Given the description of an element on the screen output the (x, y) to click on. 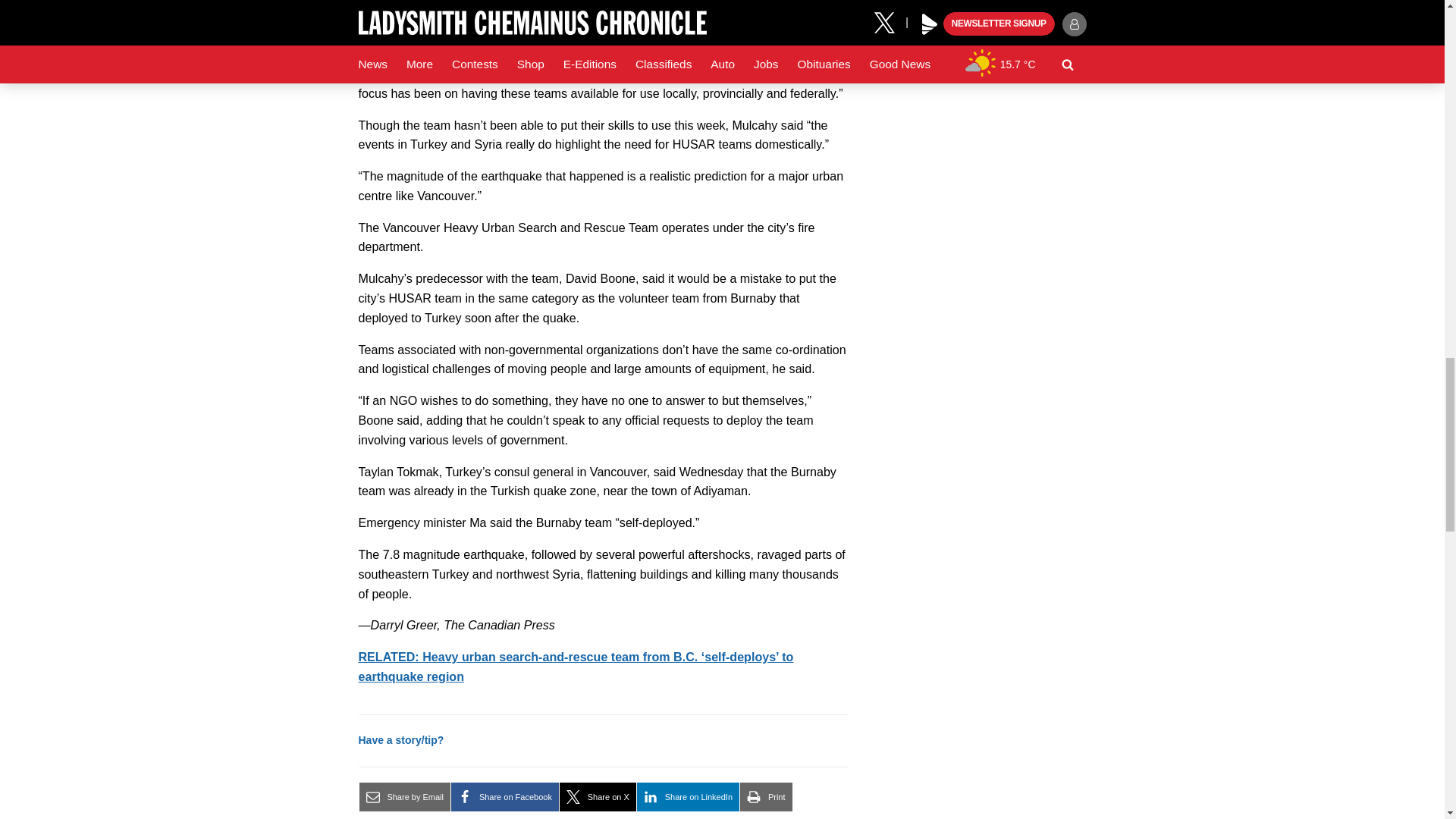
3rd party ad content (972, 37)
related story (575, 666)
